Given the description of an element on the screen output the (x, y) to click on. 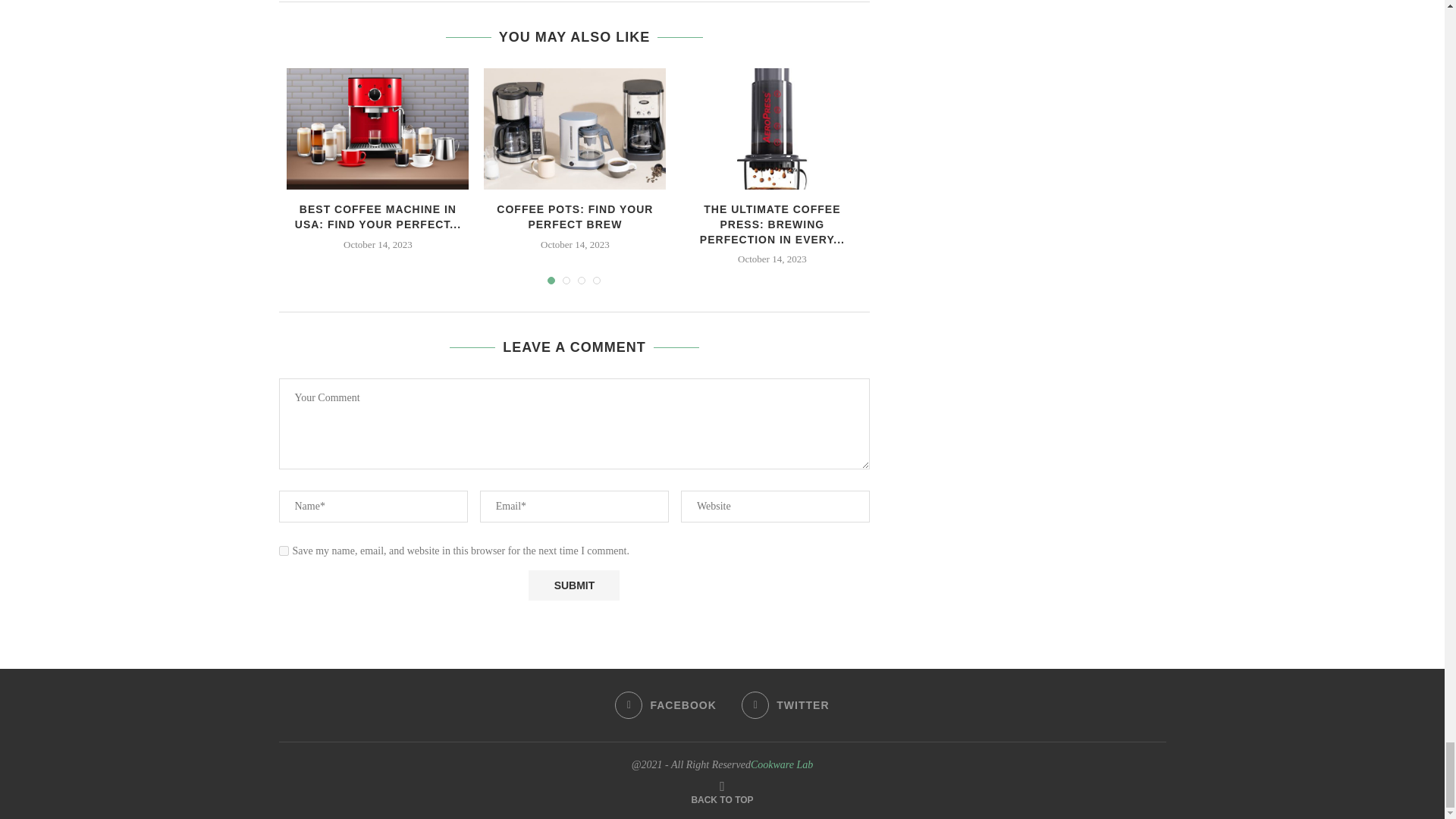
yes (283, 551)
Submit (574, 585)
